Given the description of an element on the screen output the (x, y) to click on. 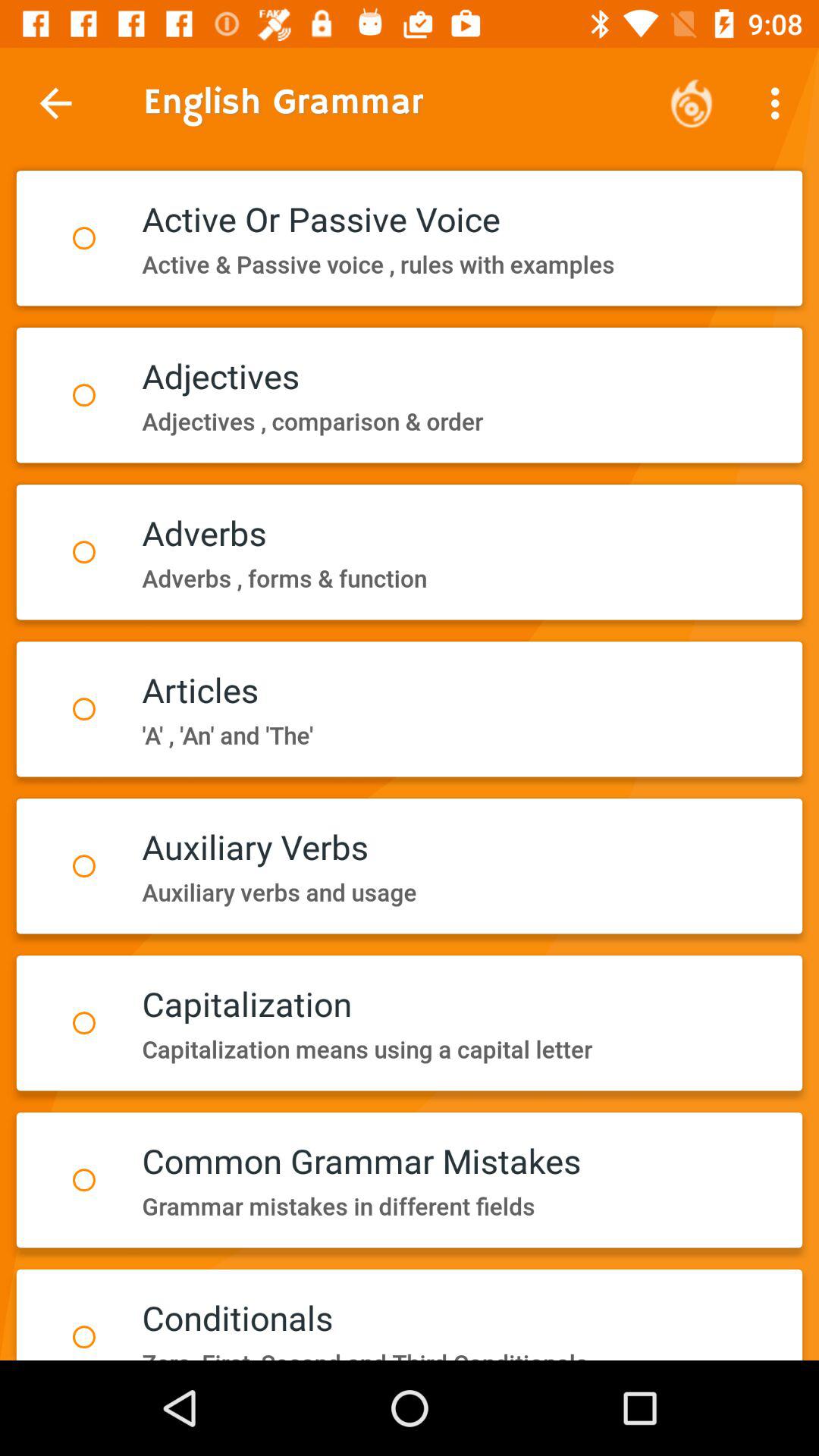
choose icon above the active passive voice (779, 103)
